Given the description of an element on the screen output the (x, y) to click on. 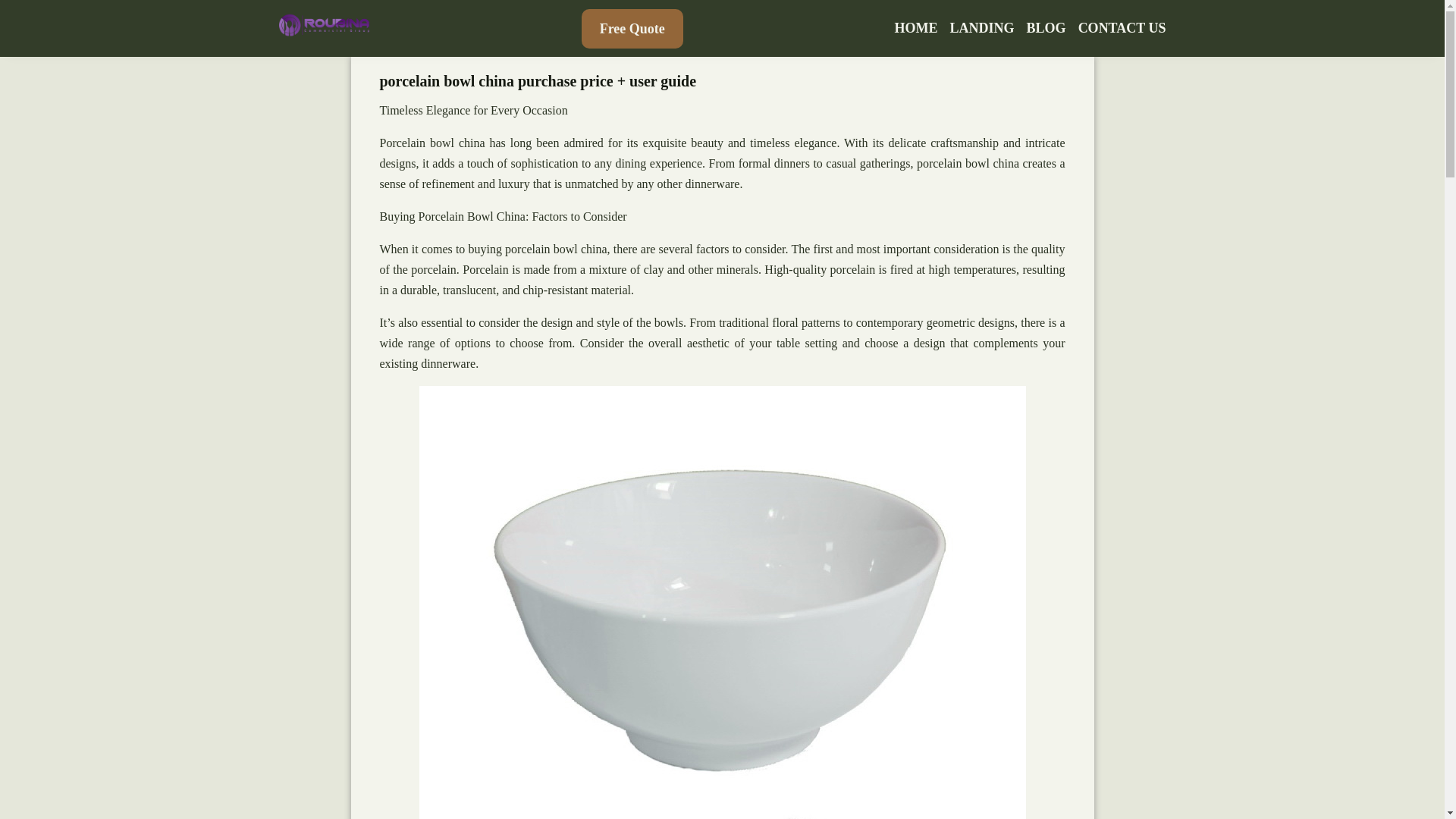
HOME (916, 28)
Free Quote (631, 28)
CONTACT US (1122, 28)
LANDING (982, 28)
BLOG (1045, 28)
